Given the description of an element on the screen output the (x, y) to click on. 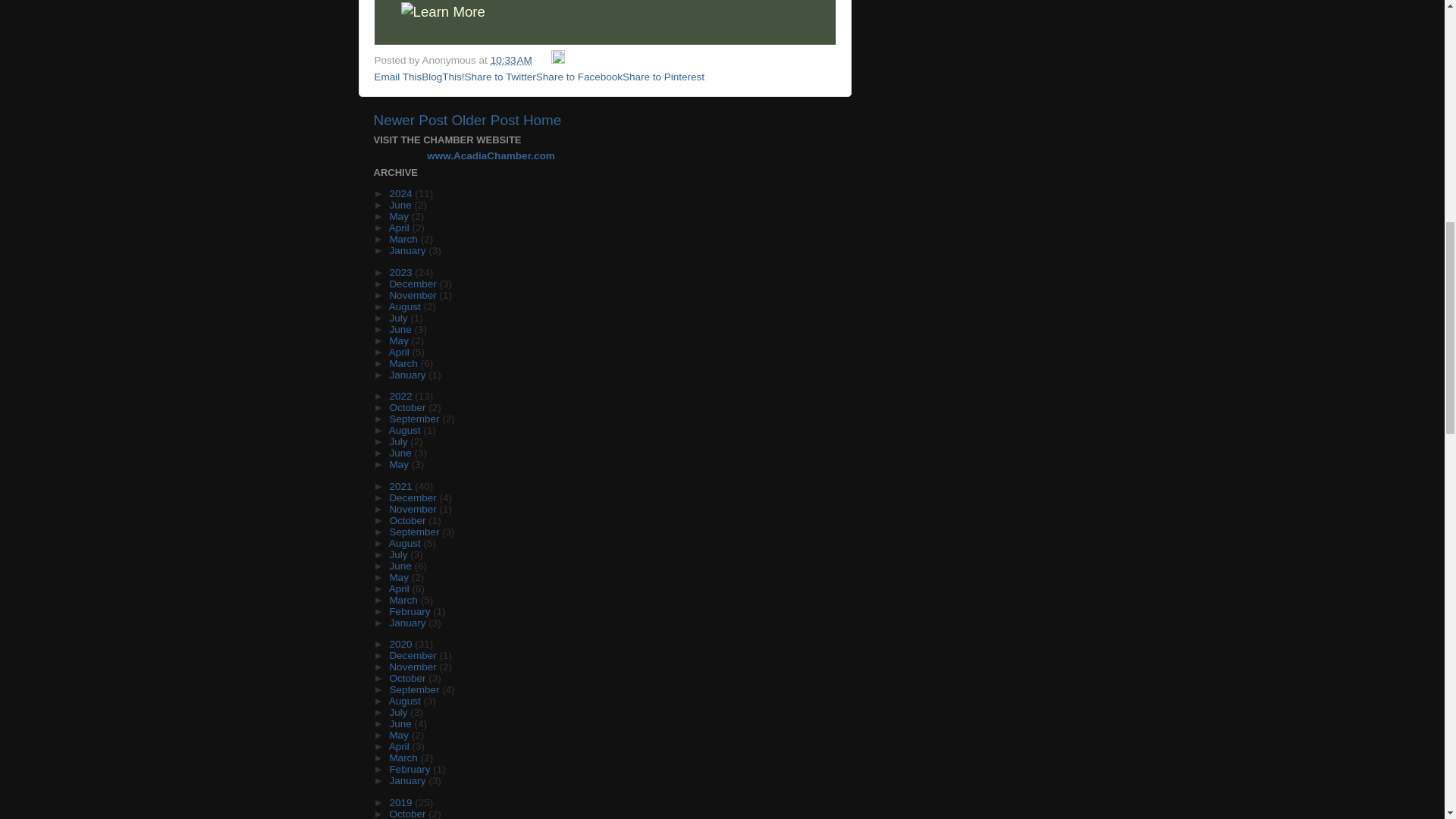
Share to Pinterest (663, 76)
Share to Twitter (499, 76)
January (408, 250)
December (413, 283)
June (400, 204)
Newer Post (409, 119)
Share to Twitter (499, 76)
November (413, 295)
BlogThis! (443, 76)
Older Post (484, 119)
